Given the description of an element on the screen output the (x, y) to click on. 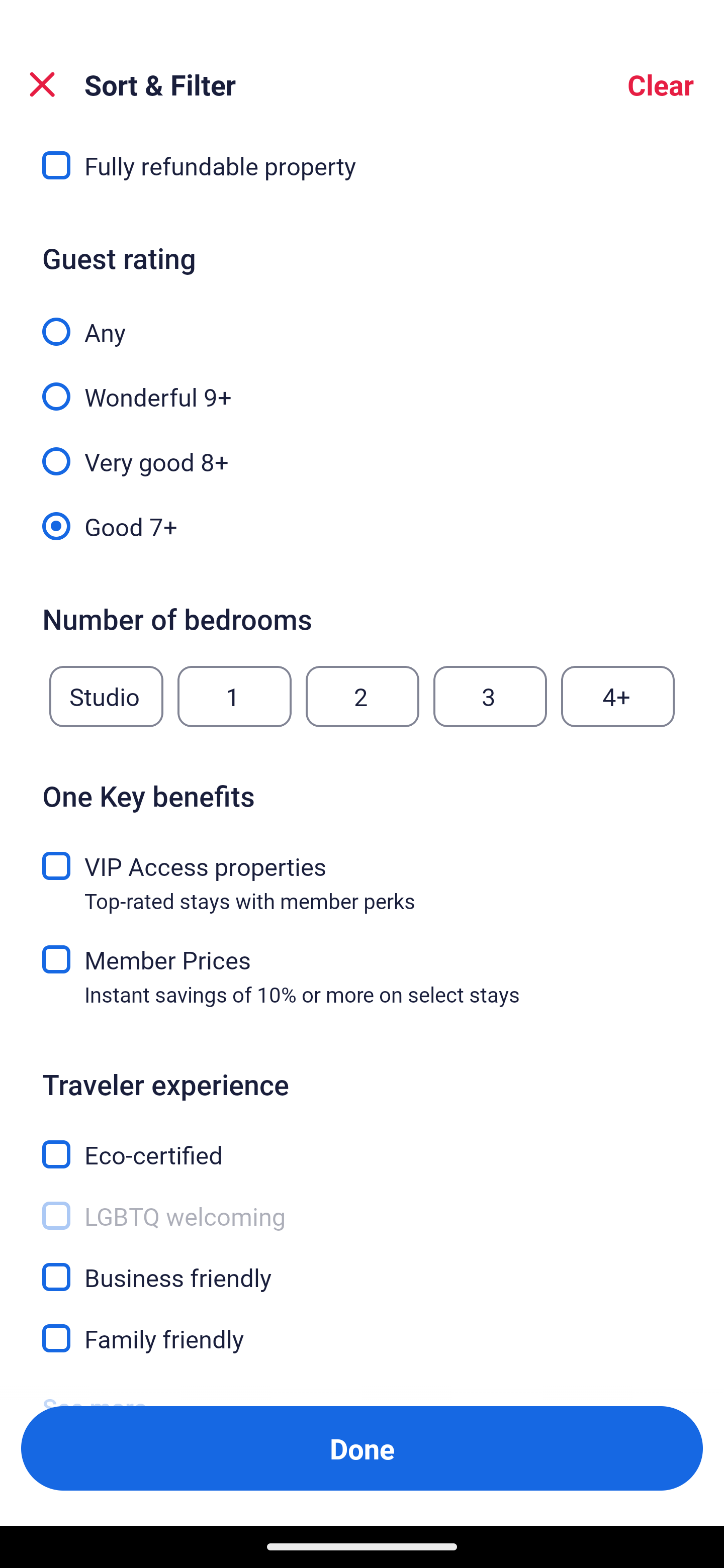
Close Sort and Filter (42, 84)
Clear (660, 84)
Any (361, 320)
Wonderful 9+ (361, 385)
Very good 8+ (361, 450)
Studio (106, 695)
1 (234, 695)
2 (362, 695)
3 (490, 695)
4+ (617, 695)
Eco-certified, Eco-certified (361, 1143)
LGBTQ welcoming, LGBTQ welcoming (361, 1204)
Business friendly, Business friendly (361, 1265)
Family friendly, Family friendly (361, 1338)
Apply and close Sort and Filter Done (361, 1448)
